Given the description of an element on the screen output the (x, y) to click on. 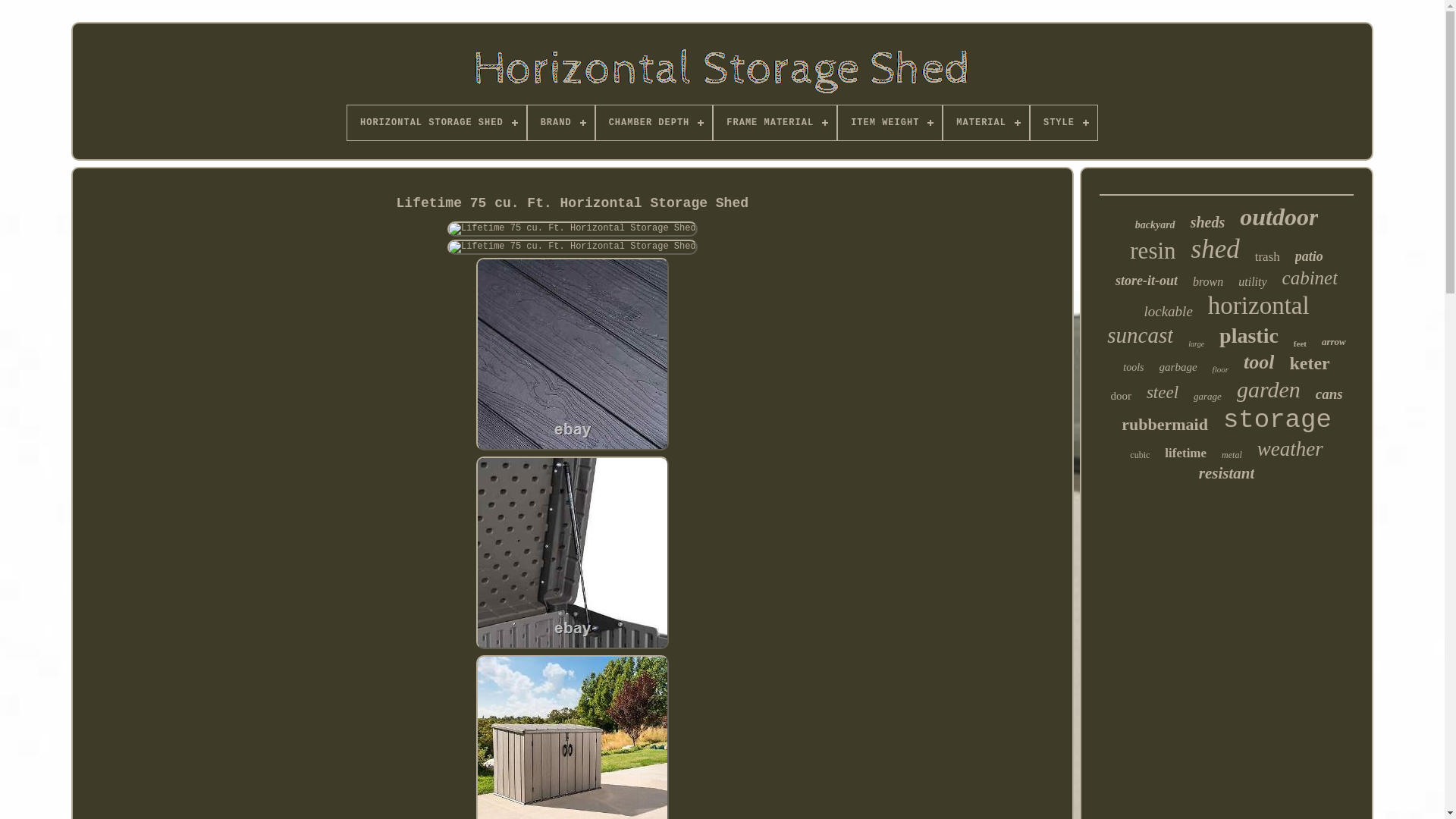
FRAME MATERIAL (774, 122)
Lifetime 75 cu. Ft. Horizontal Storage Shed (571, 228)
Lifetime 75 cu. Ft. Horizontal Storage Shed (572, 737)
HORIZONTAL STORAGE SHED (436, 122)
Lifetime 75 cu. Ft. Horizontal Storage Shed (572, 353)
Lifetime 75 cu. Ft. Horizontal Storage Shed (571, 246)
BRAND (560, 122)
Lifetime 75 cu. Ft. Horizontal Storage Shed (572, 552)
CHAMBER DEPTH (654, 122)
